Given the description of an element on the screen output the (x, y) to click on. 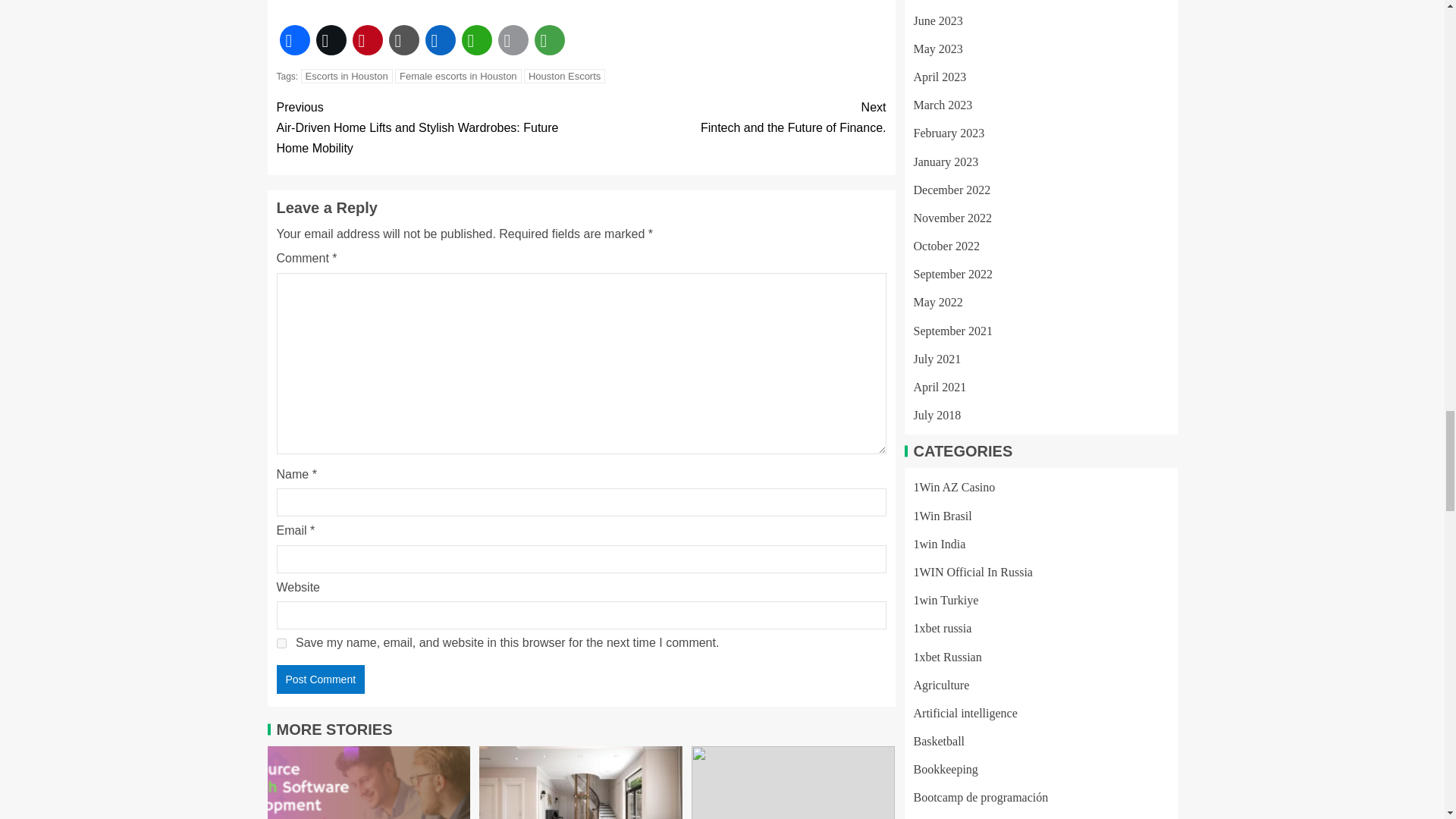
Houston Escorts (564, 75)
Copy Link (403, 40)
Email This (513, 40)
Female escorts in Houston (457, 75)
Pinterest (367, 40)
Escorts in Houston (347, 75)
yes (280, 643)
More Options (549, 40)
LinkedIn (440, 40)
Post Comment (320, 679)
